Given the description of an element on the screen output the (x, y) to click on. 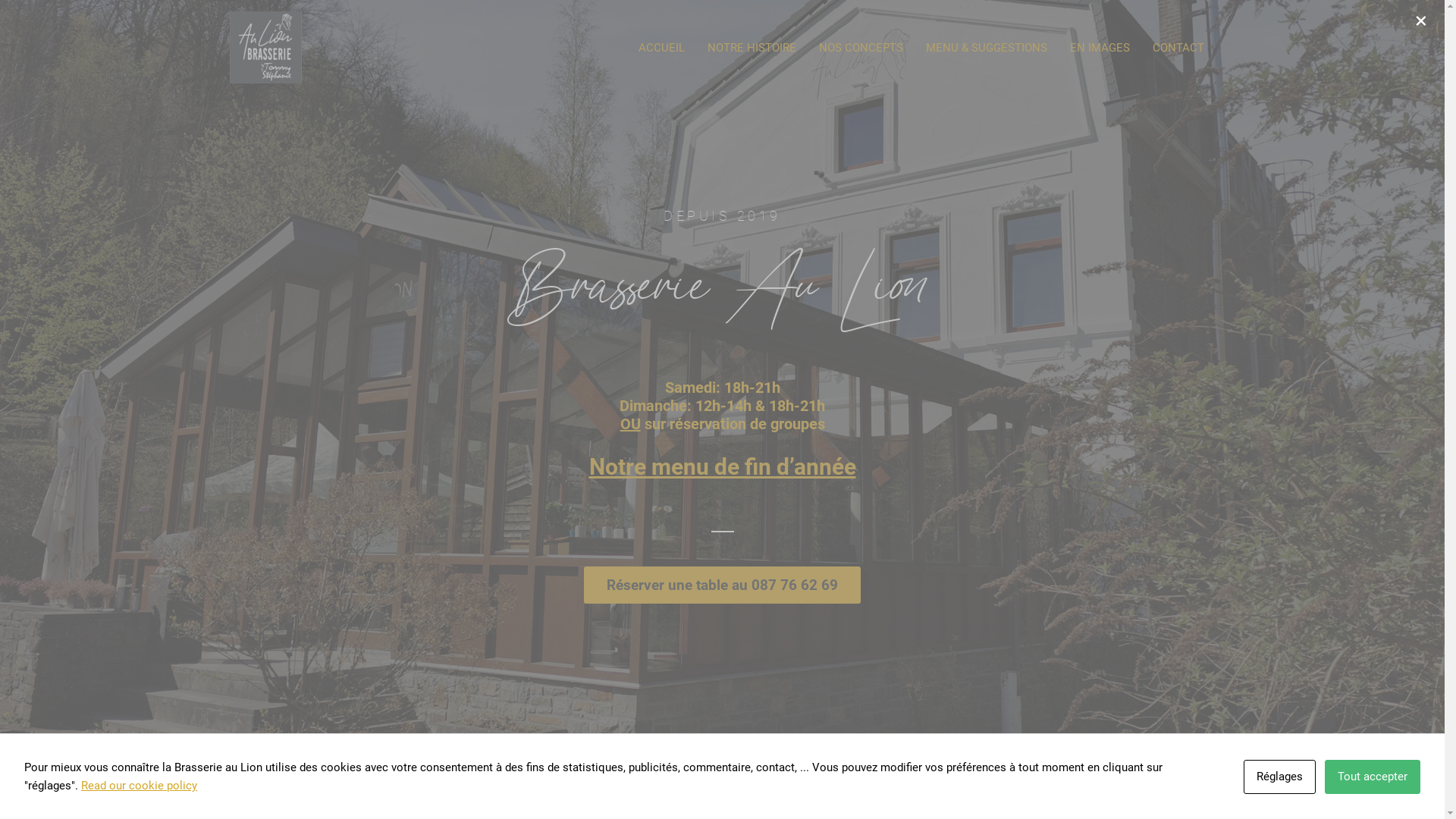
CONTACT Element type: text (1177, 47)
Read our cookie policy Element type: text (139, 785)
MENU & SUGGESTIONS Element type: text (986, 47)
NOS CONCEPTS Element type: text (859, 47)
Tout accepter Element type: text (1372, 776)
NOTRE HISTOIRE Element type: text (751, 47)
ACCUEIL Element type: text (660, 47)
EN IMAGES Element type: text (1099, 47)
